Given the description of an element on the screen output the (x, y) to click on. 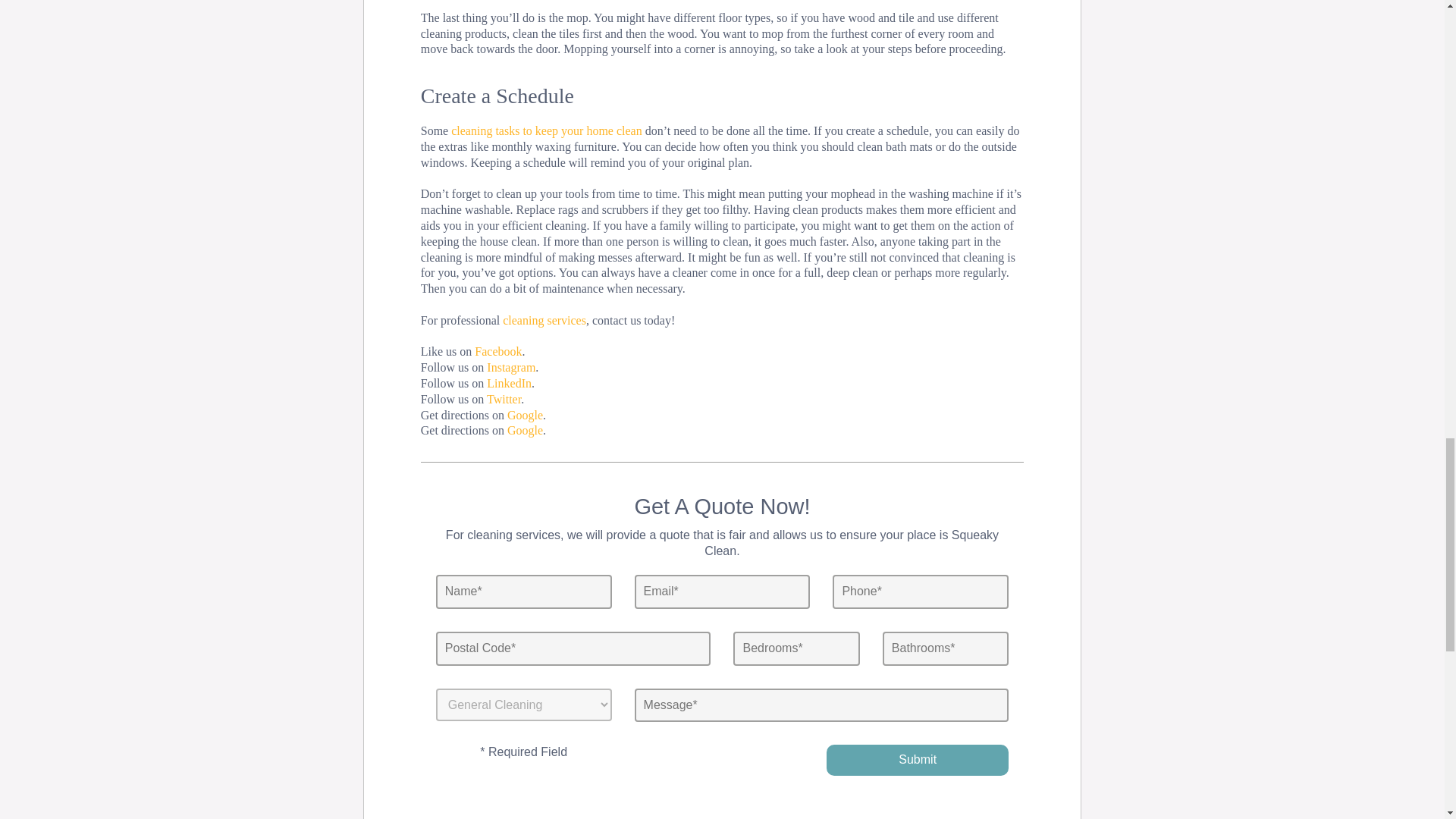
Submit (918, 759)
